Given the description of an element on the screen output the (x, y) to click on. 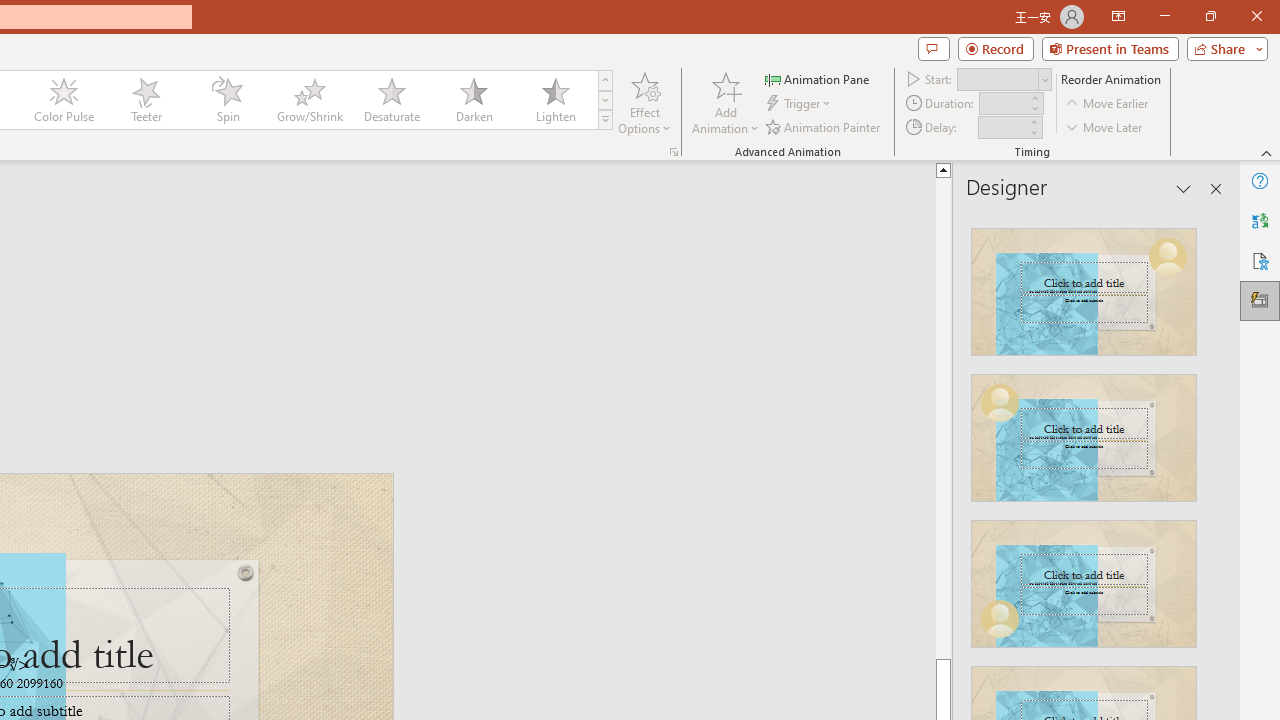
Add Animation (725, 102)
Color Pulse (63, 100)
Animation Styles (605, 120)
More (1033, 121)
Animation Duration (1003, 103)
Animation Painter (824, 126)
